Given the description of an element on the screen output the (x, y) to click on. 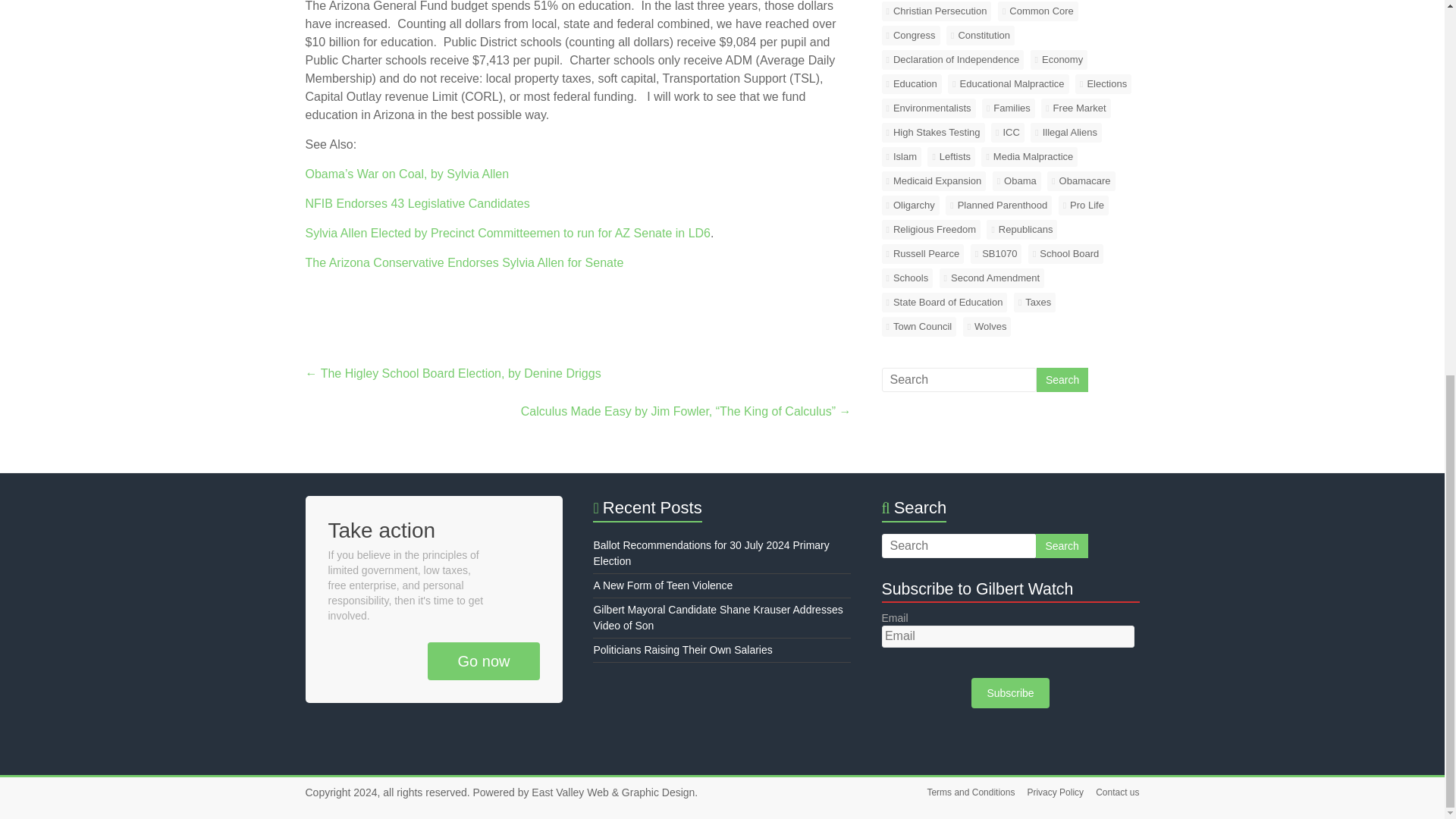
Go now (484, 661)
NFIB Endorses 43 Legislative Candidates (416, 203)
The Arizona Conservative Endorses Sylvia Allen for Senate (463, 262)
Search (1061, 545)
Search (1061, 379)
